Given the description of an element on the screen output the (x, y) to click on. 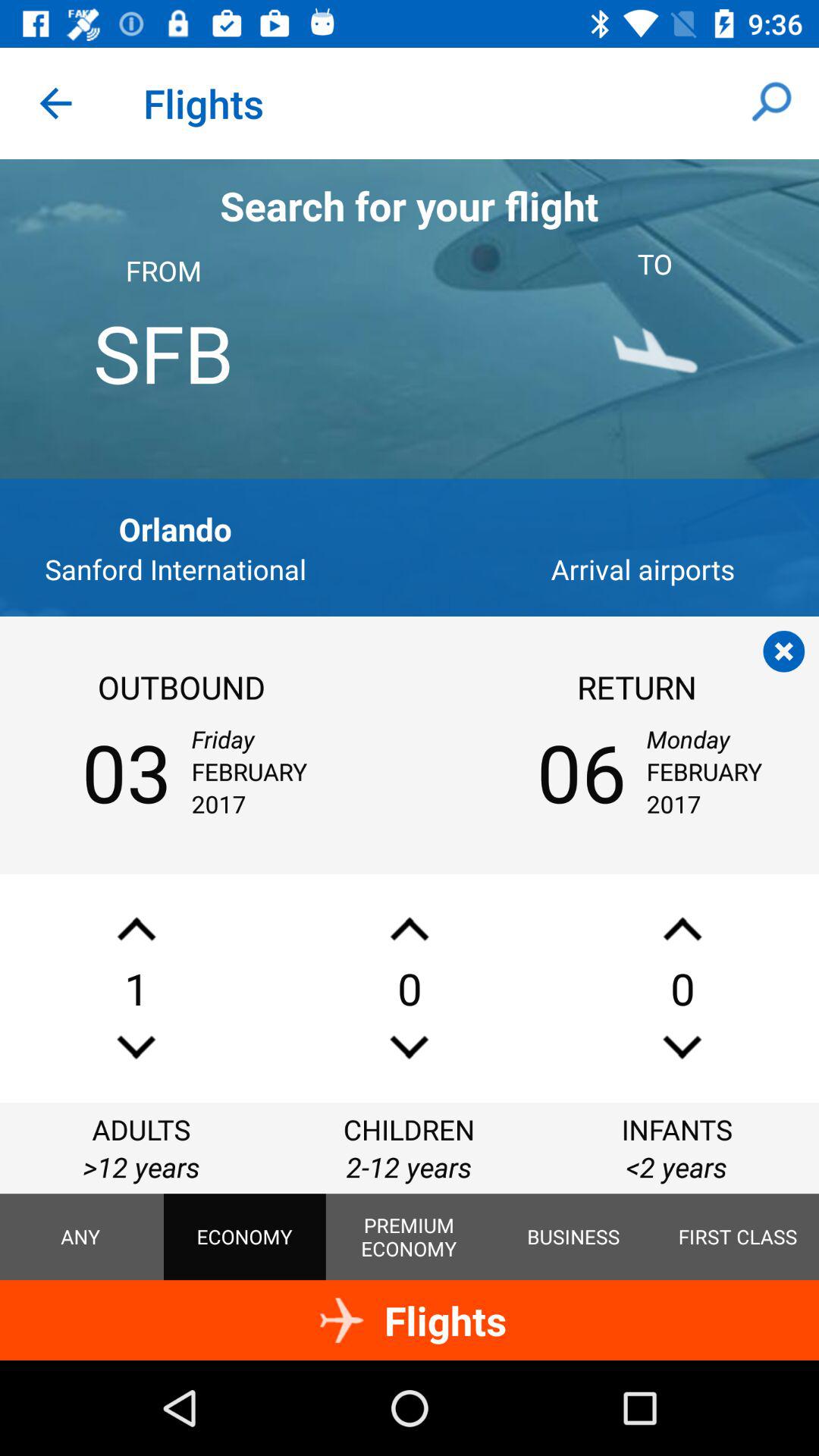
decrease value (136, 1047)
